Given the description of an element on the screen output the (x, y) to click on. 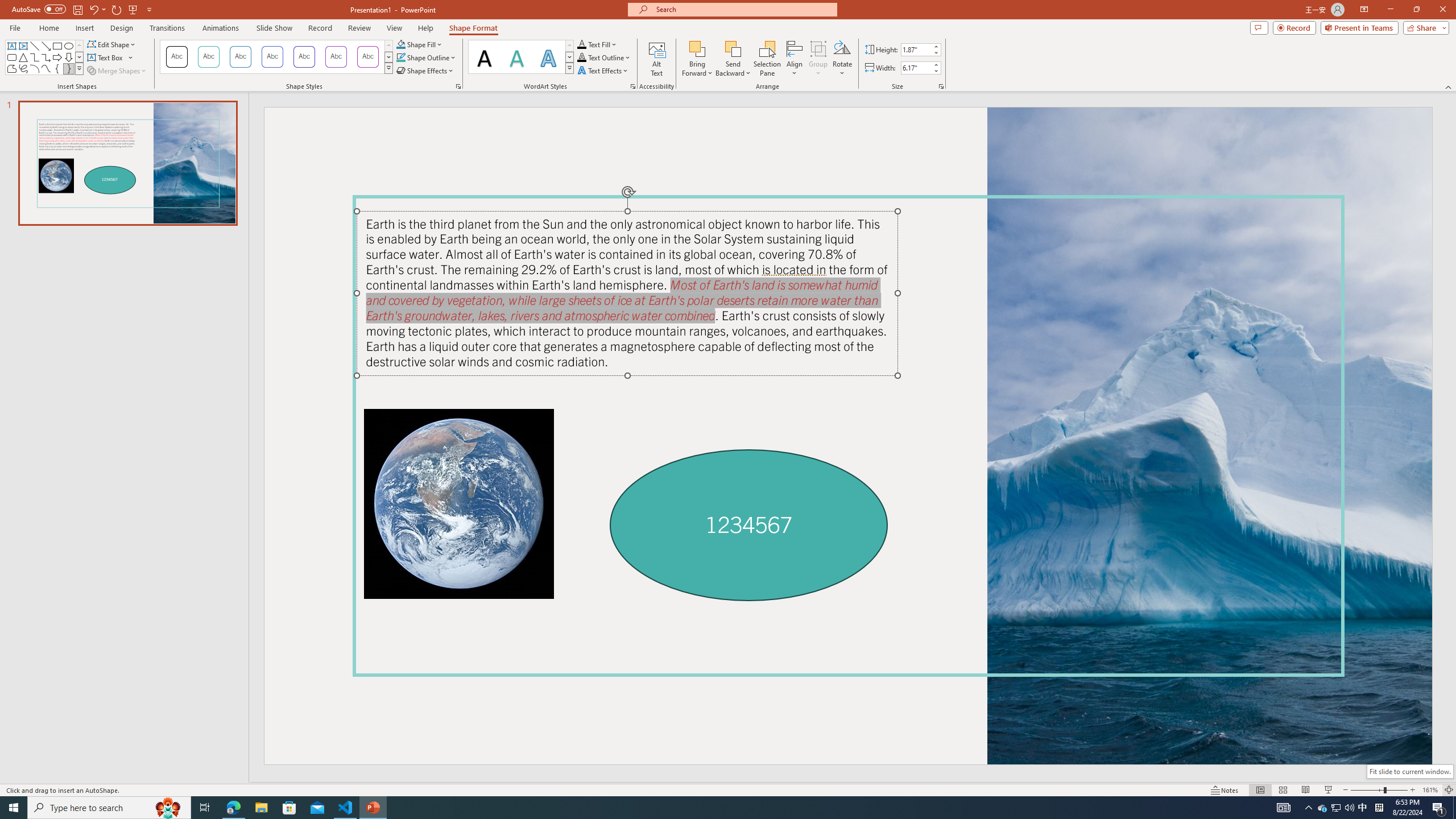
More (935, 64)
Slide Sorter (1282, 790)
Format Object... (458, 85)
Draw Horizontal Text Box (105, 56)
Row up (568, 45)
Arrow: Down (68, 57)
Left Brace (57, 68)
Text Box (110, 56)
Oval (68, 45)
Colored Outline - Purple, Accent 4 (304, 56)
Less (935, 70)
Design (122, 28)
Bring Forward (697, 48)
Colored Outline - Teal, Accent 1 (208, 56)
